Given the description of an element on the screen output the (x, y) to click on. 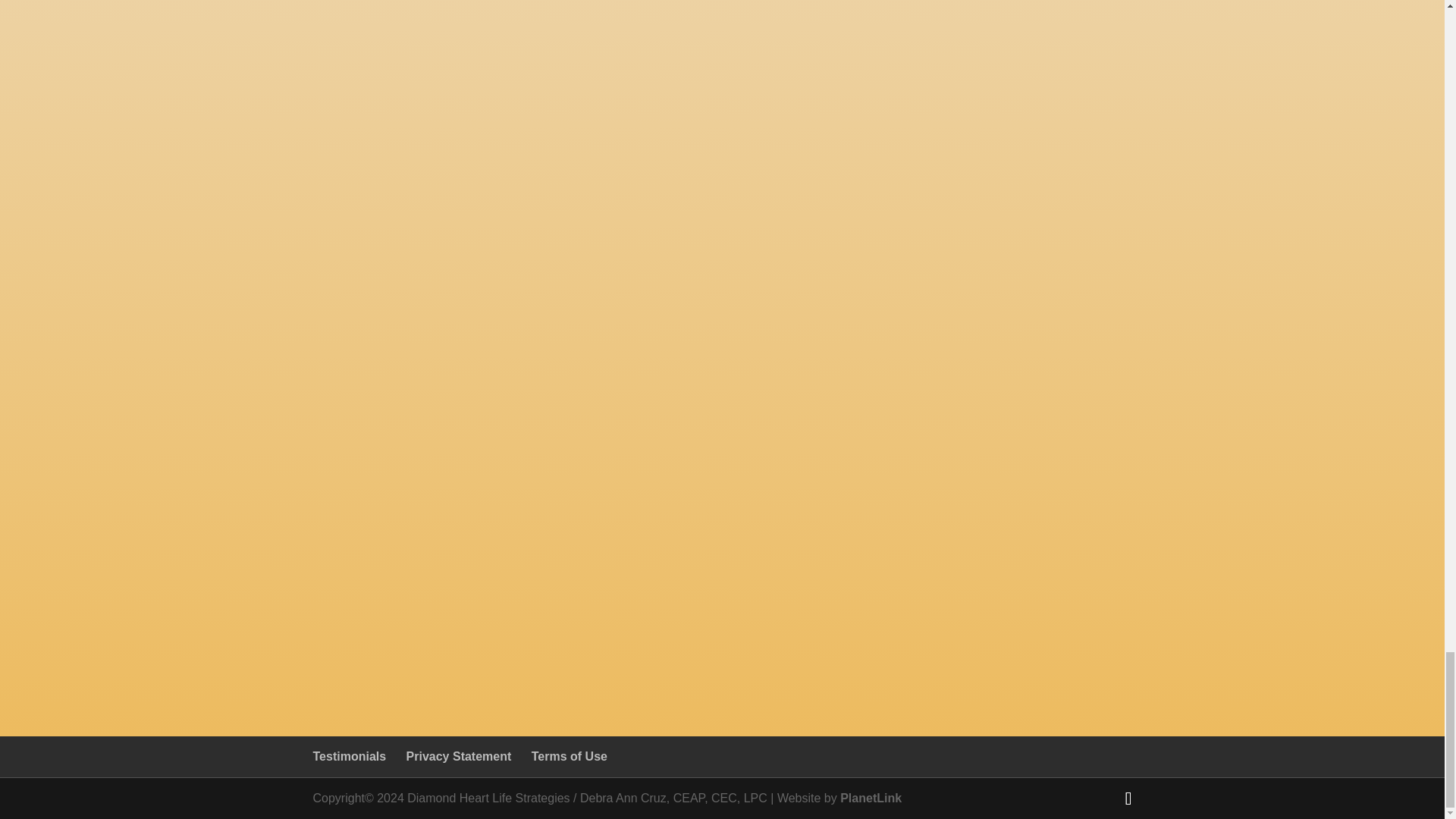
Privacy Statement (459, 756)
Terms of Use (569, 756)
Testimonials (349, 756)
PlanetLink (870, 797)
